Given the description of an element on the screen output the (x, y) to click on. 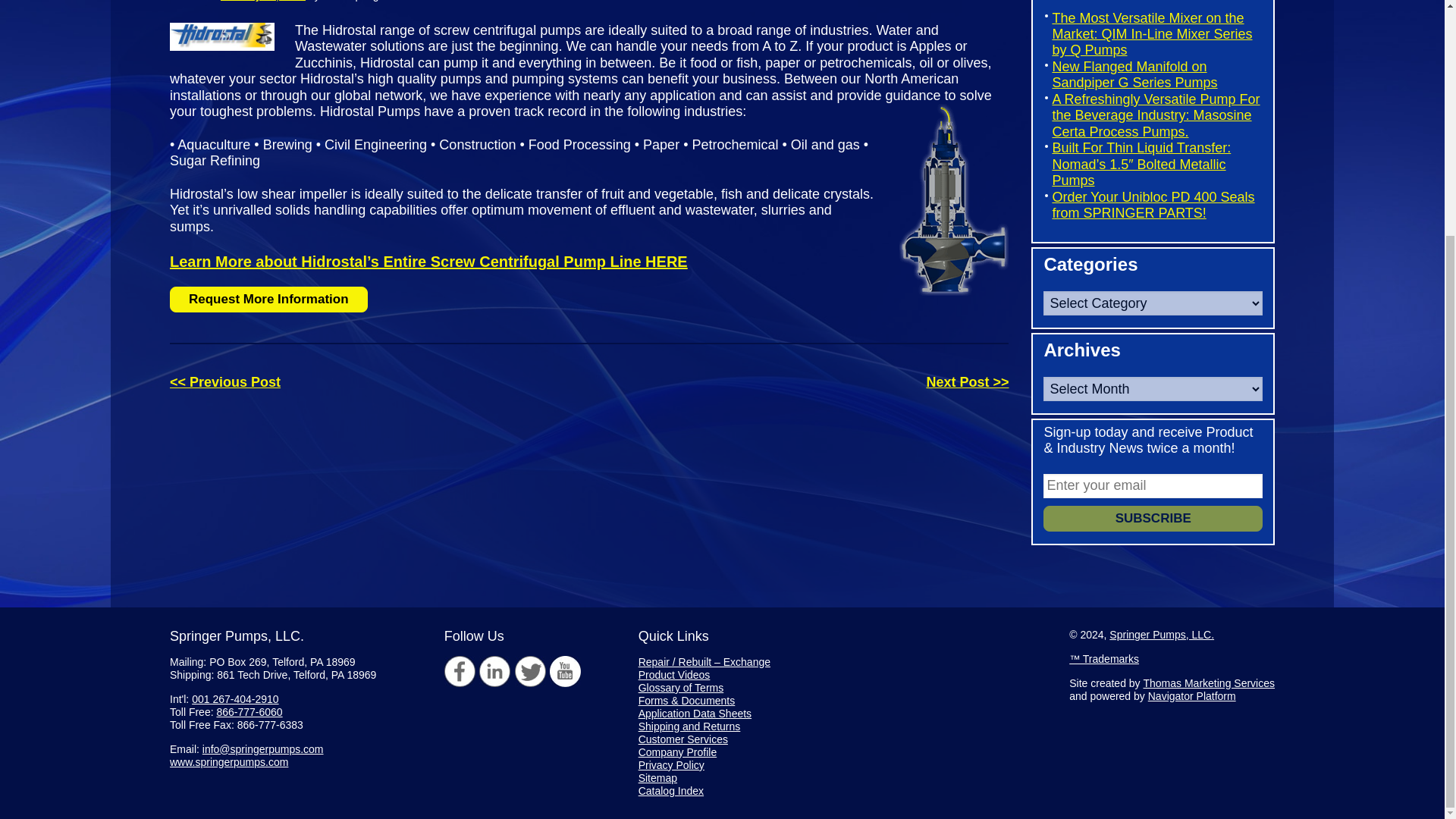
Facebook (460, 671)
Twitter (530, 671)
Subscribe (1152, 518)
Navigator Platform (1192, 696)
Hidrostal Pumps Logo (232, 46)
YouTube (565, 671)
LinkedIn (495, 671)
Request More Info (269, 299)
Permalink to Hidrostal End Suction Screw Centrifugal Pumps (263, 0)
